Given the description of an element on the screen output the (x, y) to click on. 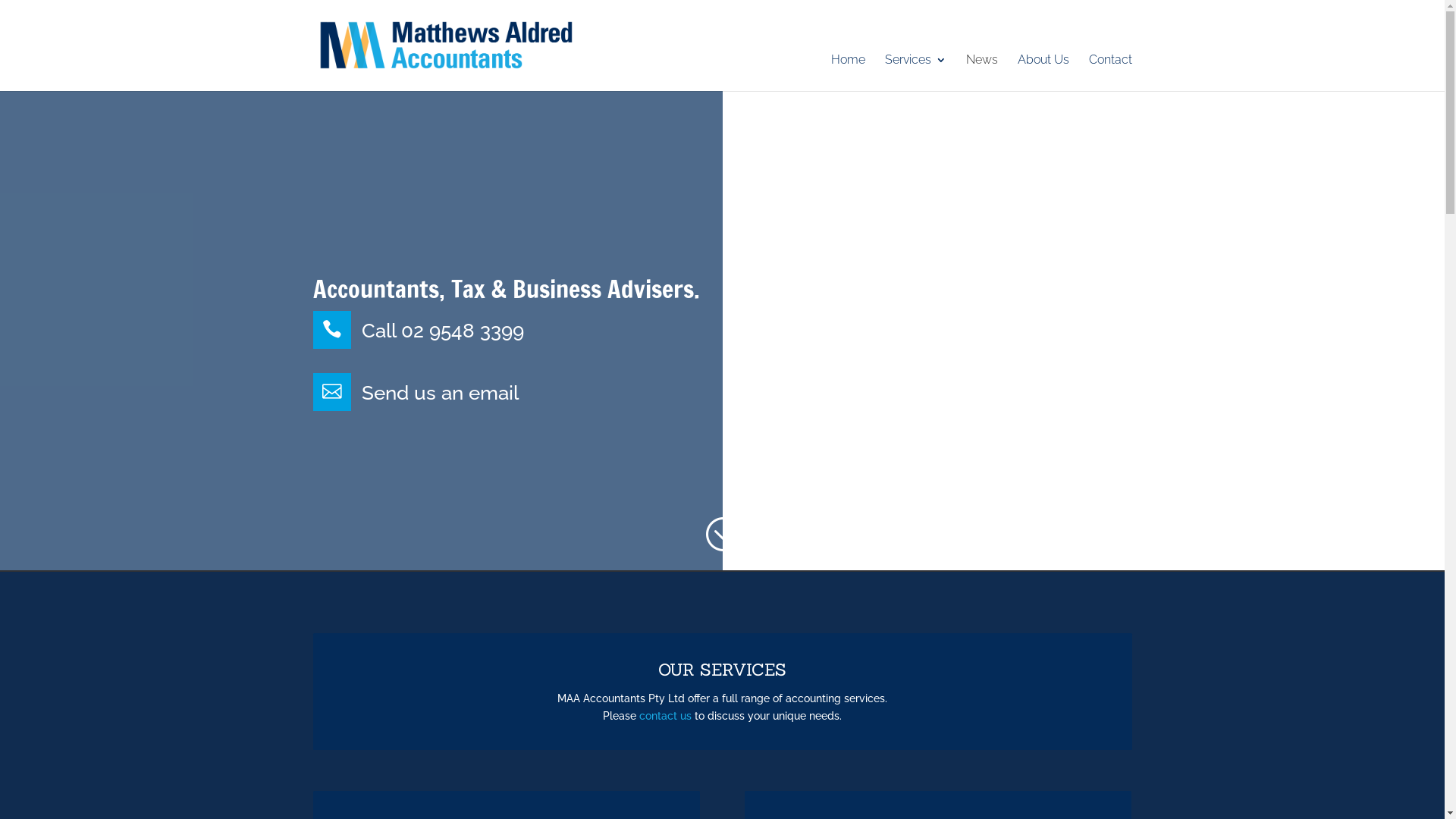
Contact Element type: text (1110, 72)
News Element type: text (981, 72)
Home Element type: text (848, 72)
Services Element type: text (914, 72)
About Us Element type: text (1043, 72)
; Element type: text (721, 534)
contact us Element type: text (665, 715)
